Given the description of an element on the screen output the (x, y) to click on. 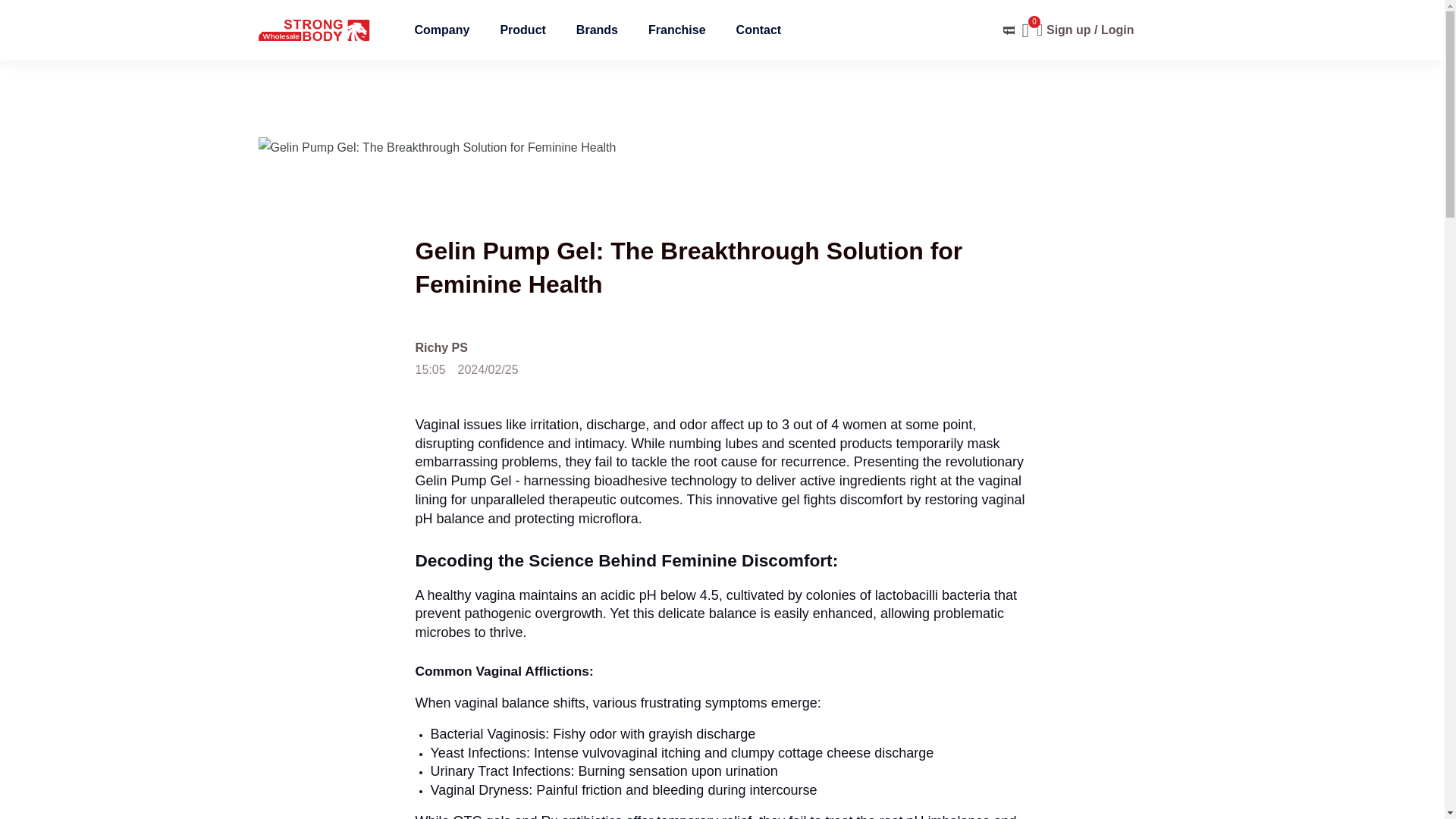
Franchise (676, 29)
Company (441, 29)
Product (522, 29)
Brands (596, 29)
logo.png (313, 29)
Contact (758, 29)
